Given the description of an element on the screen output the (x, y) to click on. 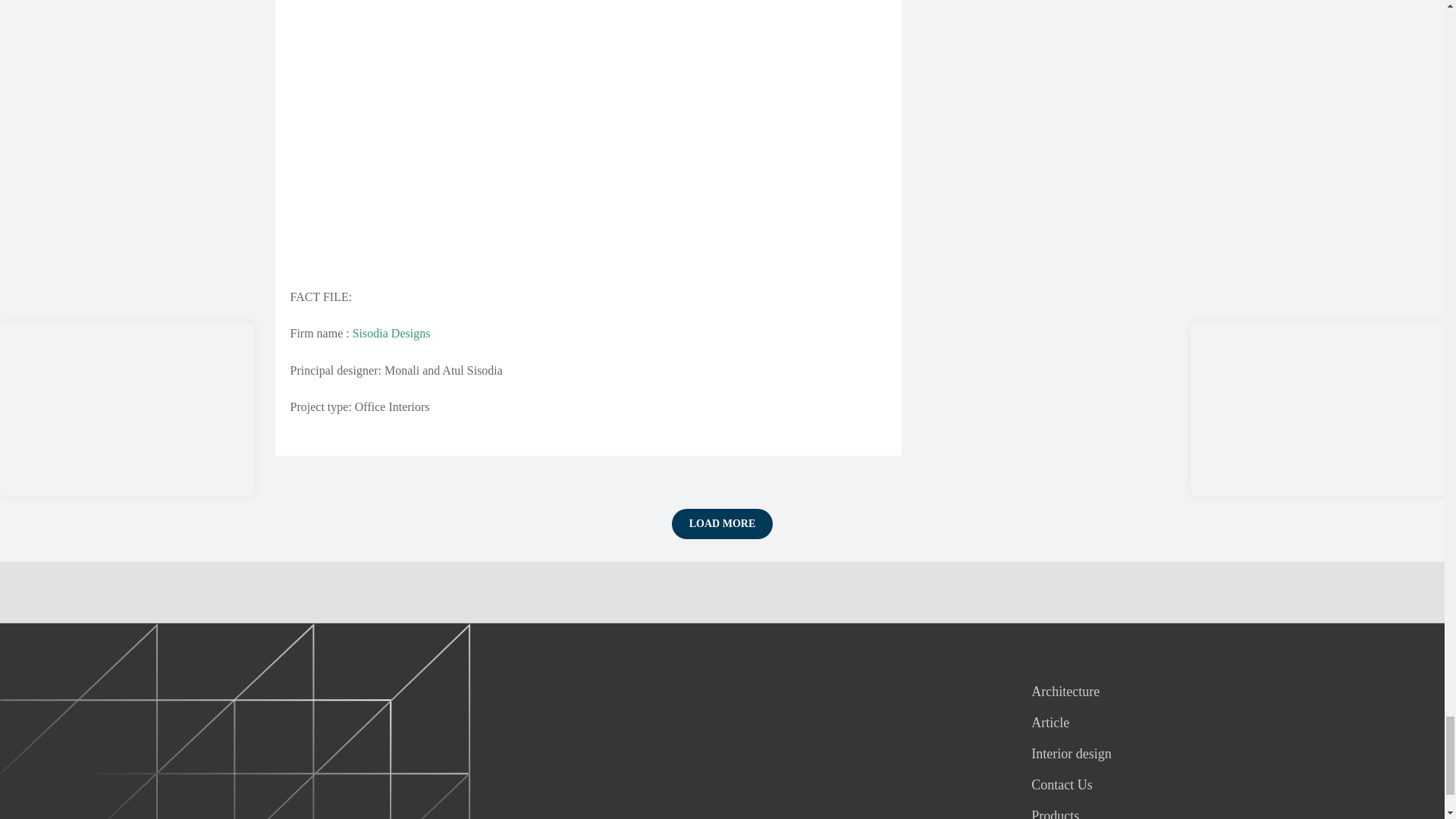
Sisodia Designs (391, 332)
